Given the description of an element on the screen output the (x, y) to click on. 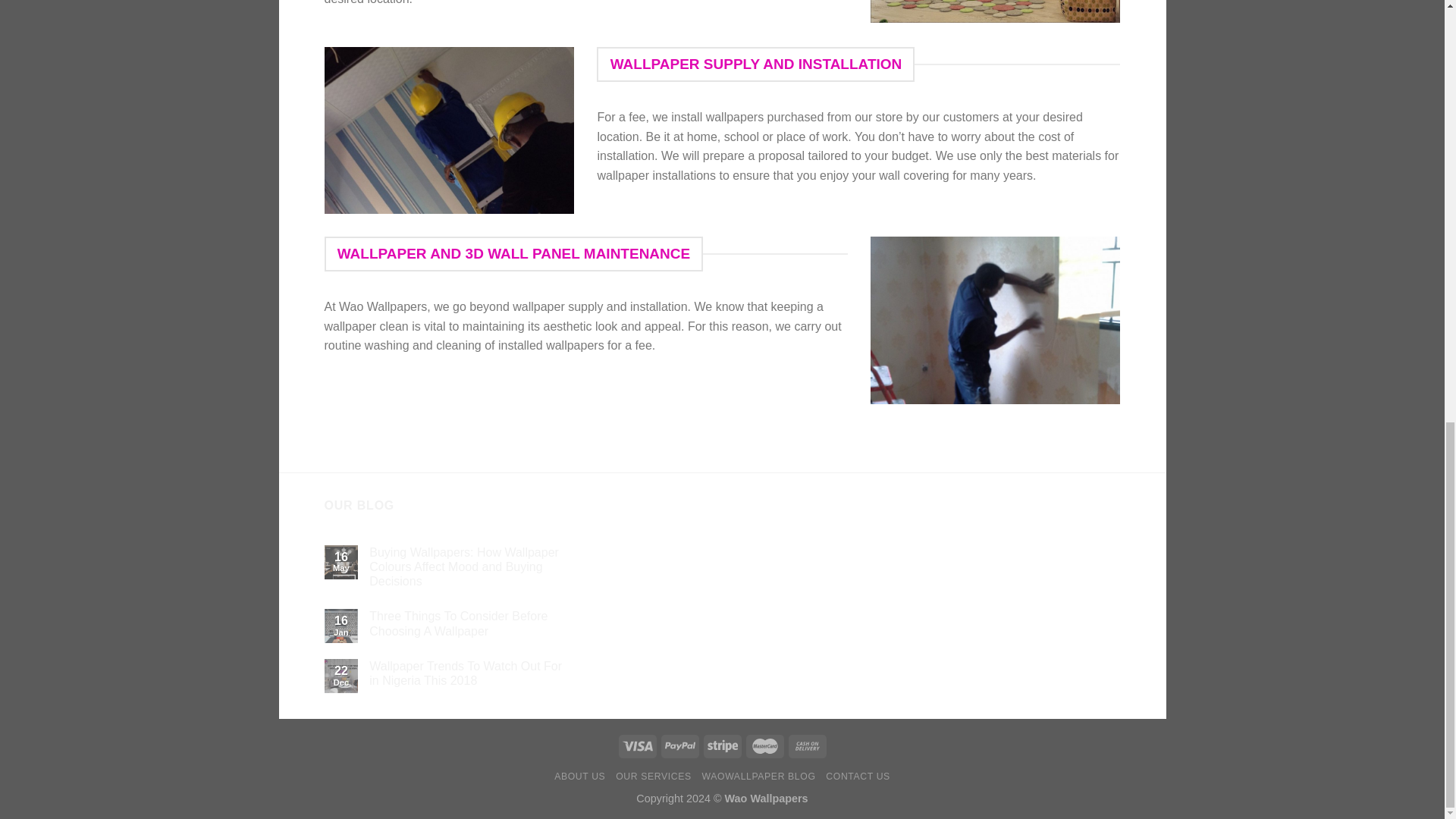
OUR SERVICES (653, 776)
Wallpaper Trends To Watch Out For in Nigeria This 2018 (471, 673)
ABOUT US (579, 776)
Three Things To Consider Before Choosing A Wallpaper (471, 623)
Wallpaper Trends To Watch Out For in Nigeria This 2018 (471, 673)
Three Things To Consider Before Choosing A Wallpaper (471, 623)
WAOWALLPAPER BLOG (758, 776)
